Given the description of an element on the screen output the (x, y) to click on. 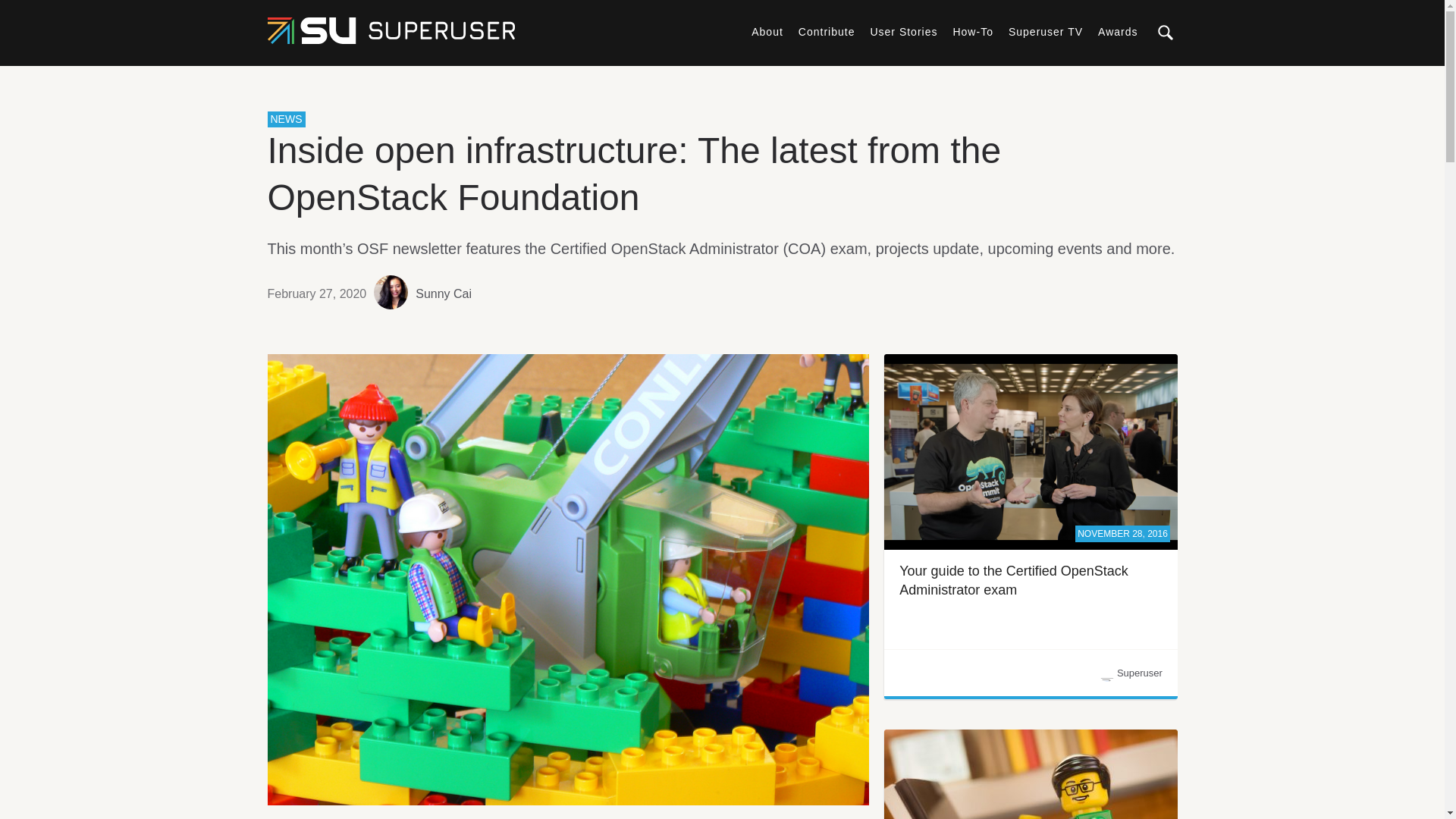
Sunny Cai (442, 293)
Superuser TV (1046, 31)
Posts by Sunny Cai (442, 293)
User Stories (903, 31)
Awards (1117, 31)
Contribute (826, 31)
How-To (972, 31)
About (767, 31)
Search (1391, 79)
